Given the description of an element on the screen output the (x, y) to click on. 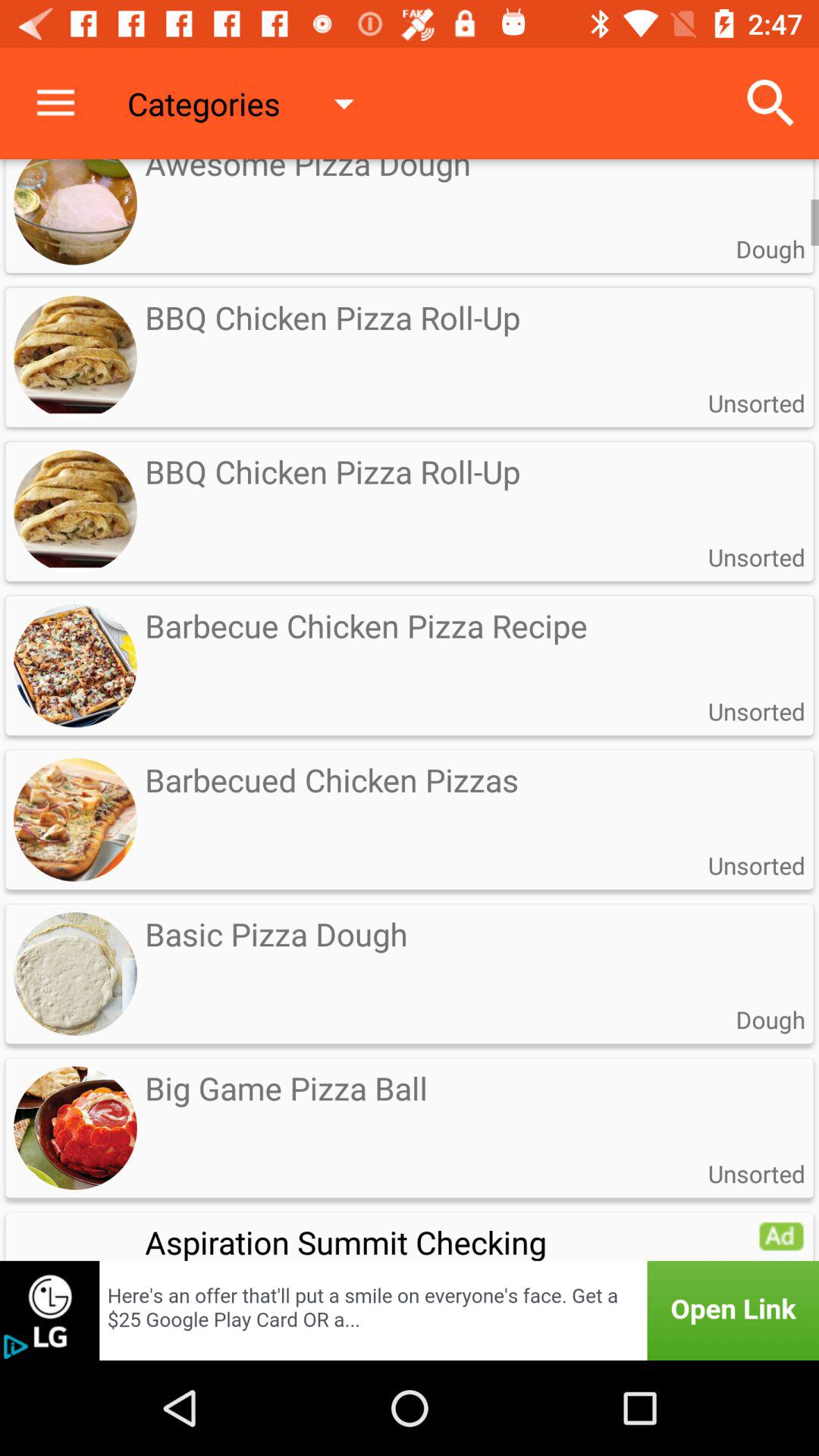
advertisement option (781, 1235)
